Given the description of an element on the screen output the (x, y) to click on. 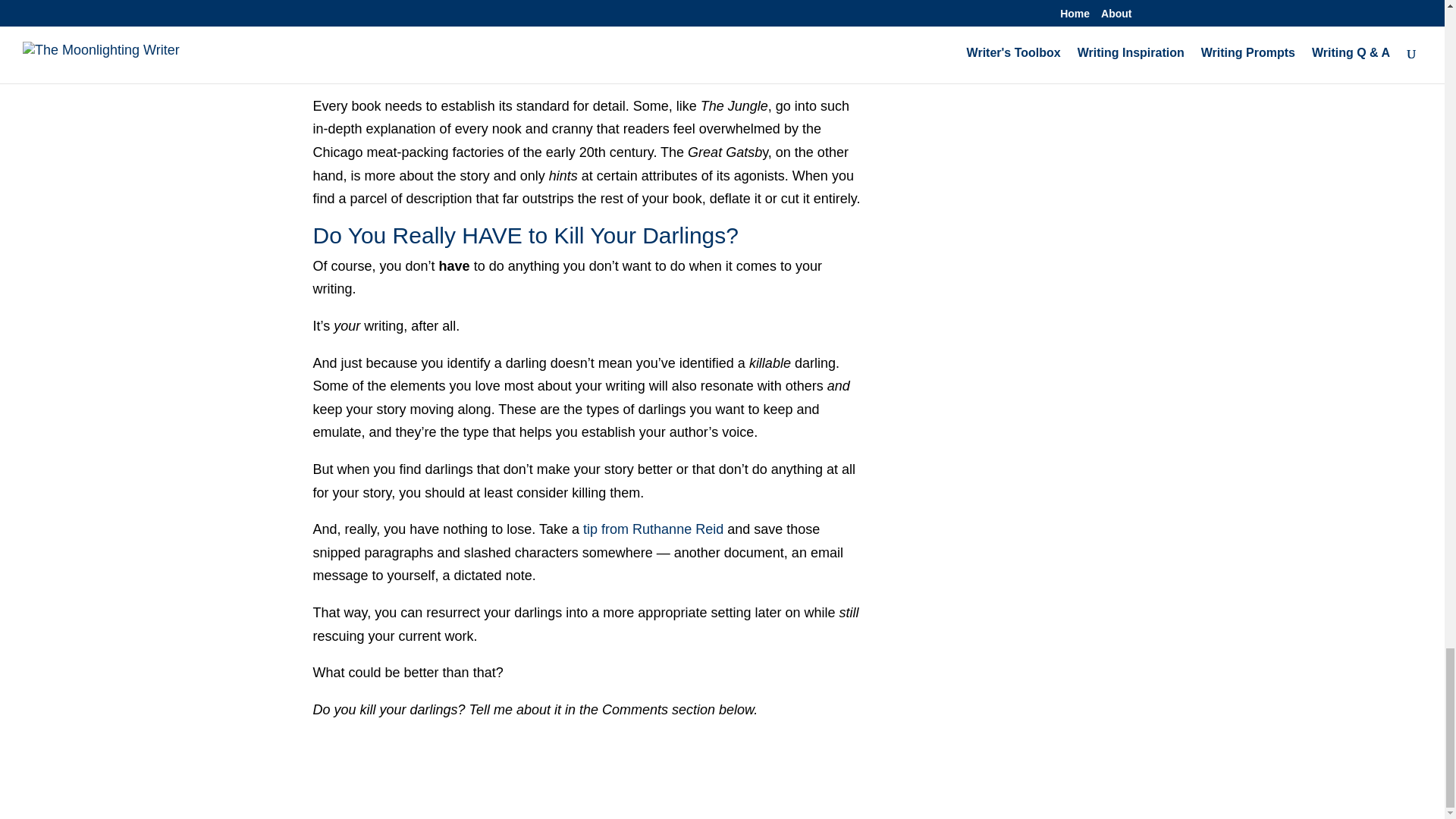
tip from Ruthanne Reid (653, 529)
